Given the description of an element on the screen output the (x, y) to click on. 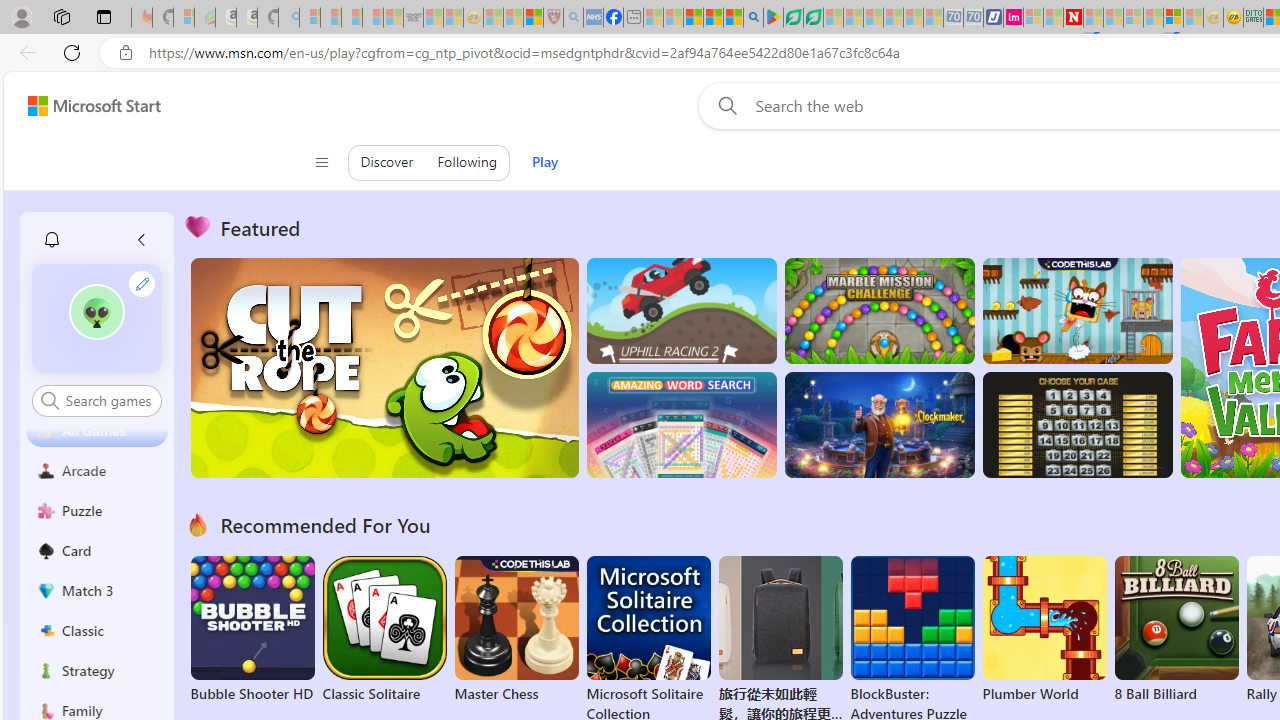
Amazing Word Search (681, 425)
Squicky (1076, 310)
Jobs - lastminute.com Investor Portal (1012, 17)
Bubble Shooter HD (251, 629)
Latest Politics News & Archive | Newsweek.com (1072, 17)
